Given the description of an element on the screen output the (x, y) to click on. 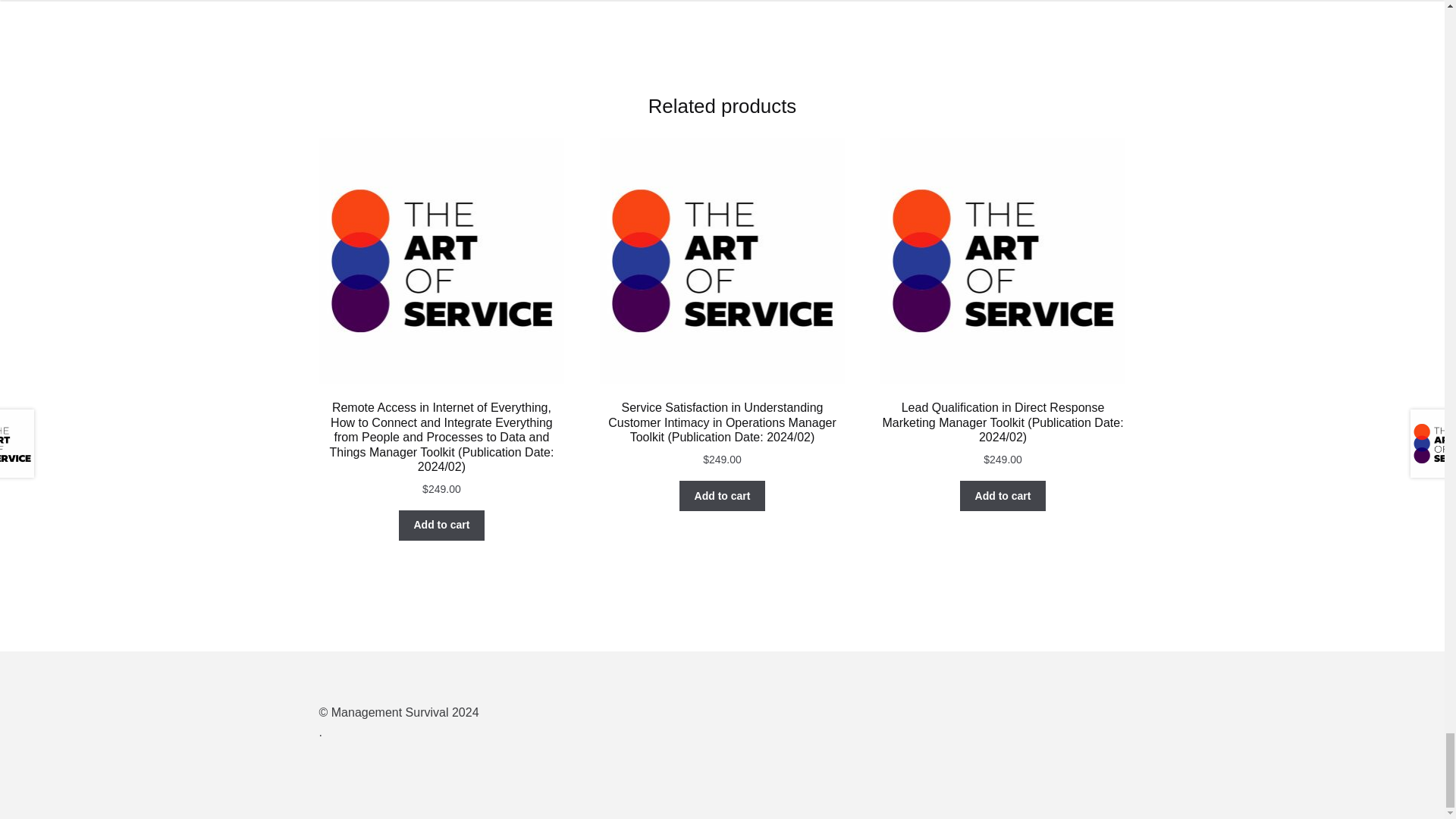
Add to cart (1002, 495)
Add to cart (441, 525)
Add to cart (722, 495)
